Given the description of an element on the screen output the (x, y) to click on. 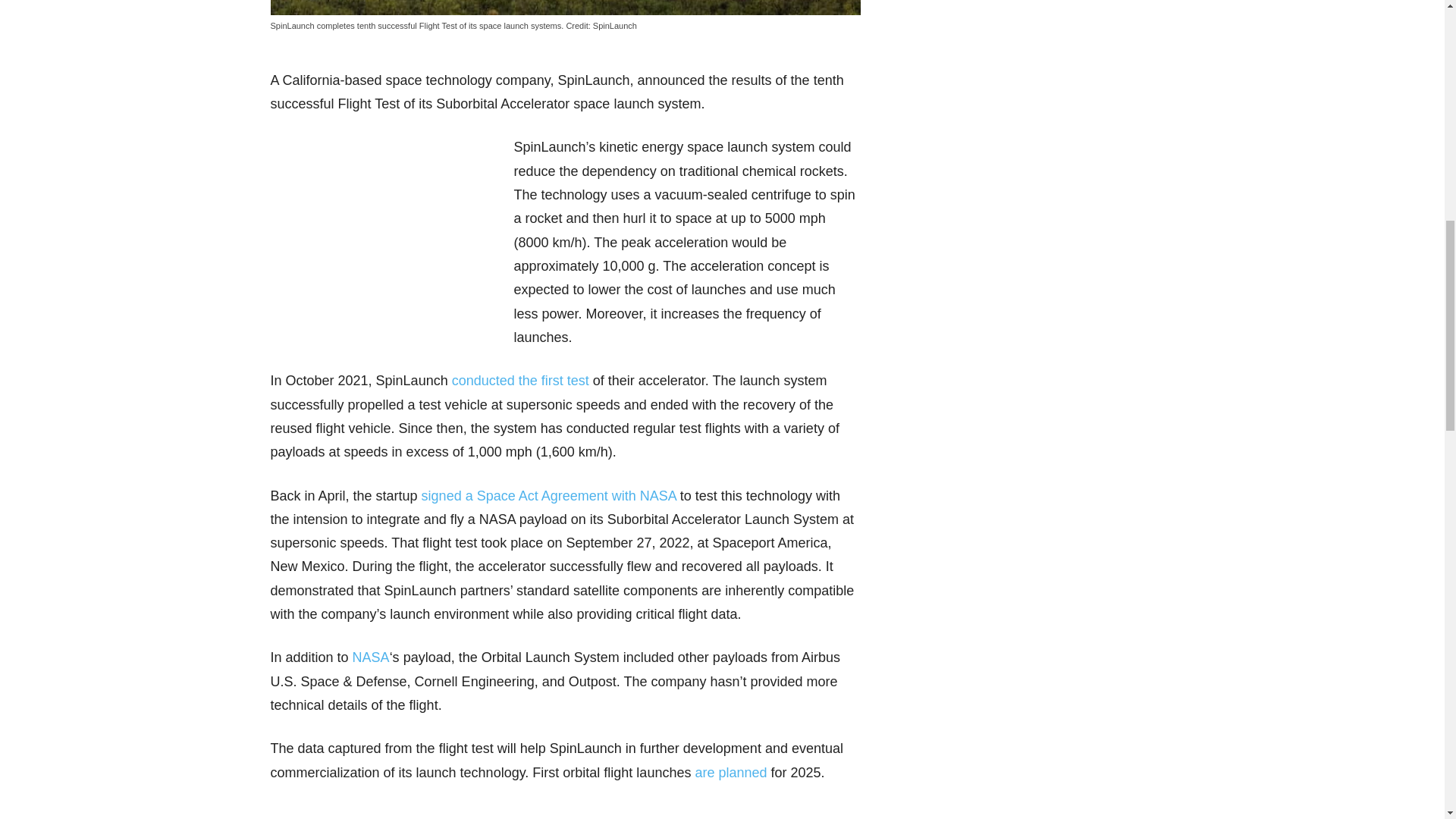
NASA (371, 657)
conducted the first test (520, 380)
signed a Space Act Agreement with NASA (549, 495)
Suborbital-Accelerator (564, 7)
are planned (730, 772)
